Given the description of an element on the screen output the (x, y) to click on. 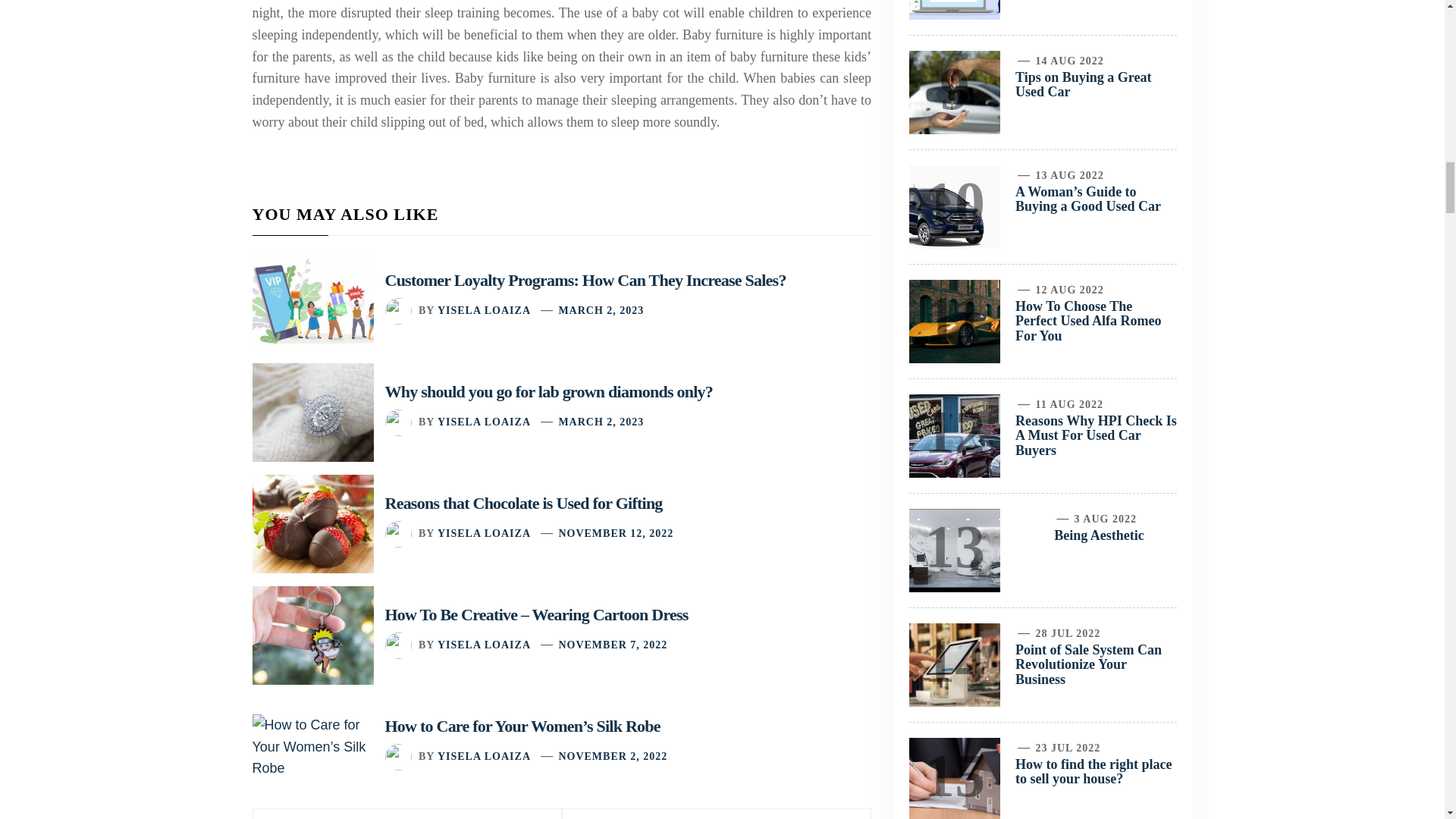
NOVEMBER 7, 2022 (611, 644)
Customer Loyalty Programs: How Can They Increase Sales? (585, 280)
NOVEMBER 12, 2022 (614, 532)
YISELA LOAIZA (484, 421)
Why should you go for lab grown diamonds only? (549, 391)
NOVEMBER 2, 2022 (611, 756)
YISELA LOAIZA (484, 756)
YISELA LOAIZA (484, 532)
YISELA LOAIZA (484, 644)
MARCH 2, 2023 (600, 421)
MARCH 2, 2023 (600, 310)
Reasons that Chocolate is Used for Gifting (523, 502)
YISELA LOAIZA (484, 310)
